Given the description of an element on the screen output the (x, y) to click on. 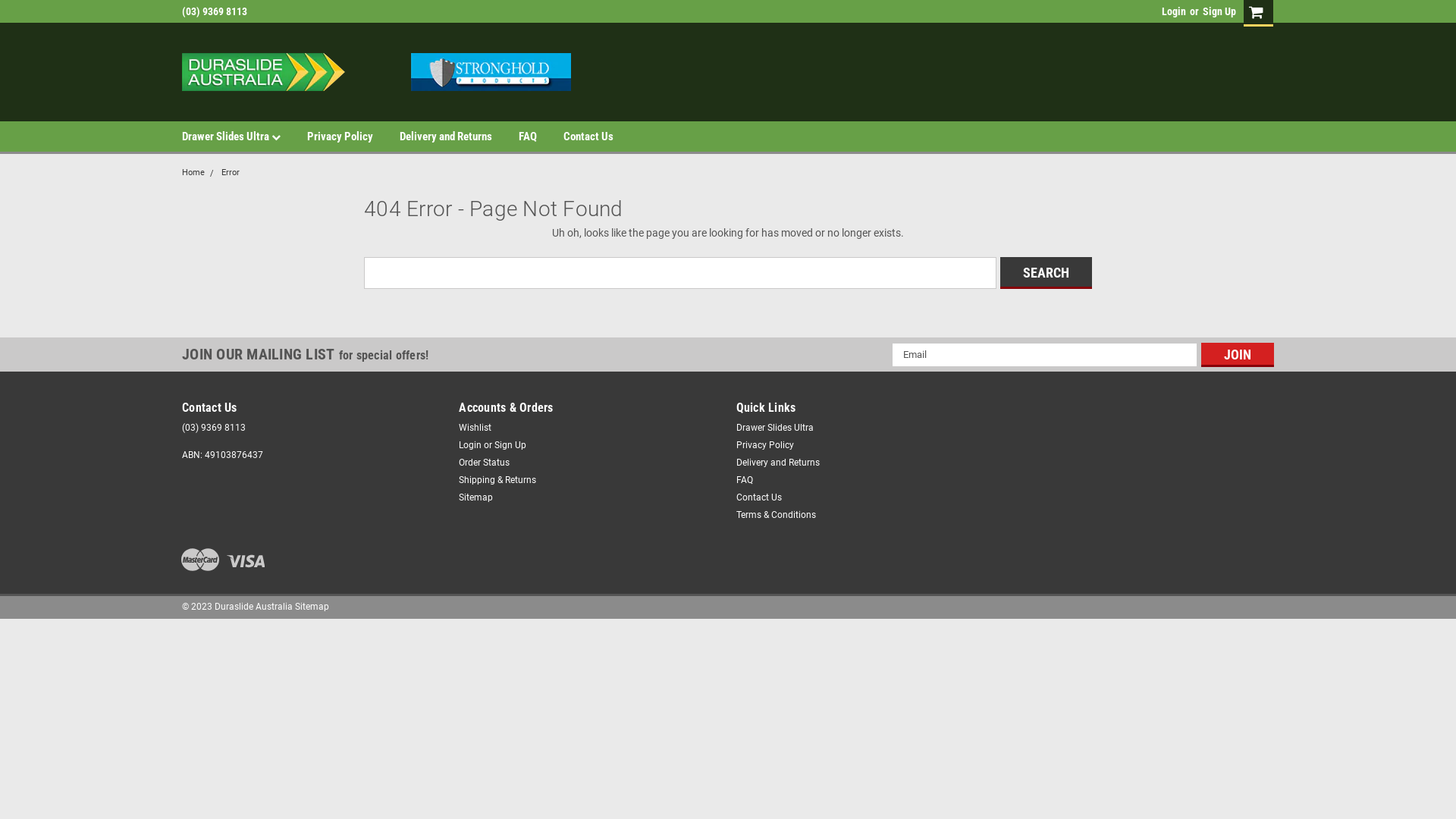
Contact Us Element type: text (758, 496)
Privacy Policy Element type: text (764, 444)
Order Status Element type: text (483, 461)
Error Element type: text (230, 172)
Delivery and Returns Element type: text (458, 136)
FAQ Element type: text (743, 479)
Duraslide Australia Element type: hover (376, 72)
Shipping & Returns Element type: text (497, 479)
Sitemap Element type: text (475, 496)
Sign Up Element type: text (1217, 11)
Sitemap Element type: text (311, 606)
Login Element type: text (1173, 11)
Terms & Conditions Element type: text (775, 514)
Join Element type: text (1237, 354)
Sign Up Element type: text (510, 444)
Contact Us Element type: text (601, 136)
Drawer Slides Ultra Element type: text (244, 136)
FAQ Element type: text (540, 136)
Search Element type: text (1046, 272)
Delivery and Returns Element type: text (777, 461)
Wishlist Element type: text (474, 426)
Privacy Policy Element type: text (353, 136)
Login Element type: text (469, 444)
Home Element type: text (193, 172)
Drawer Slides Ultra Element type: text (773, 426)
